Given the description of an element on the screen output the (x, y) to click on. 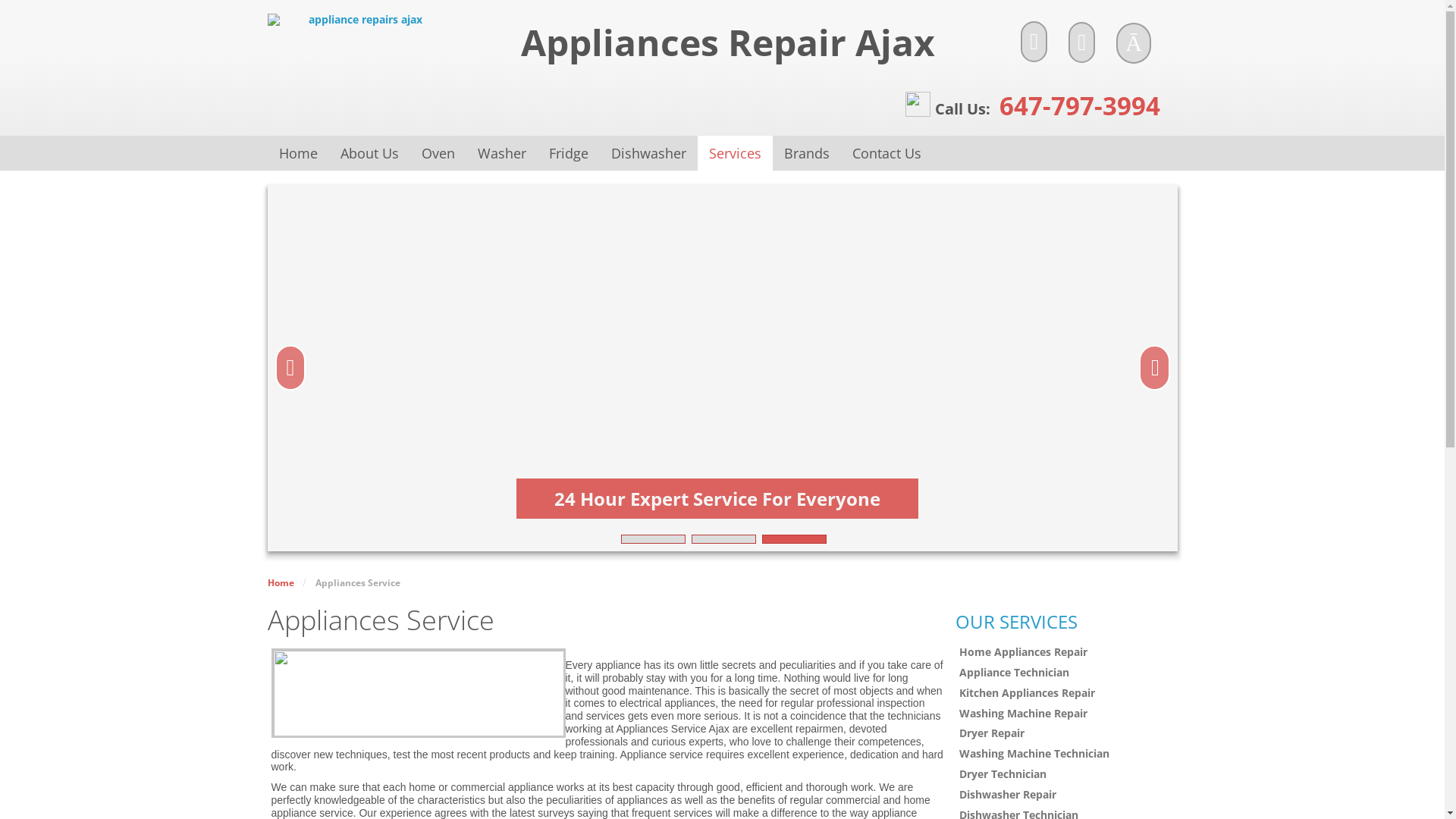
Oven Element type: text (437, 152)
Brands Element type: text (805, 152)
Services Element type: text (734, 152)
Dishwasher Repair Element type: text (1066, 794)
Washing Machine Technician Element type: text (1066, 753)
Contact Us Element type: text (885, 152)
Washer Element type: text (500, 152)
Home Appliances Repair Element type: text (1066, 652)
Fridge Element type: text (567, 152)
Washing Machine Repair Element type: text (1066, 713)
Dryer Technician Element type: text (1066, 774)
Dryer Repair Element type: text (1066, 733)
Home Element type: text (279, 582)
About Us Element type: text (369, 152)
Home Element type: text (297, 152)
Kitchen Appliances Repair Element type: text (1066, 693)
Appliance Technician Element type: text (1066, 672)
Dishwasher Element type: text (647, 152)
